Given the description of an element on the screen output the (x, y) to click on. 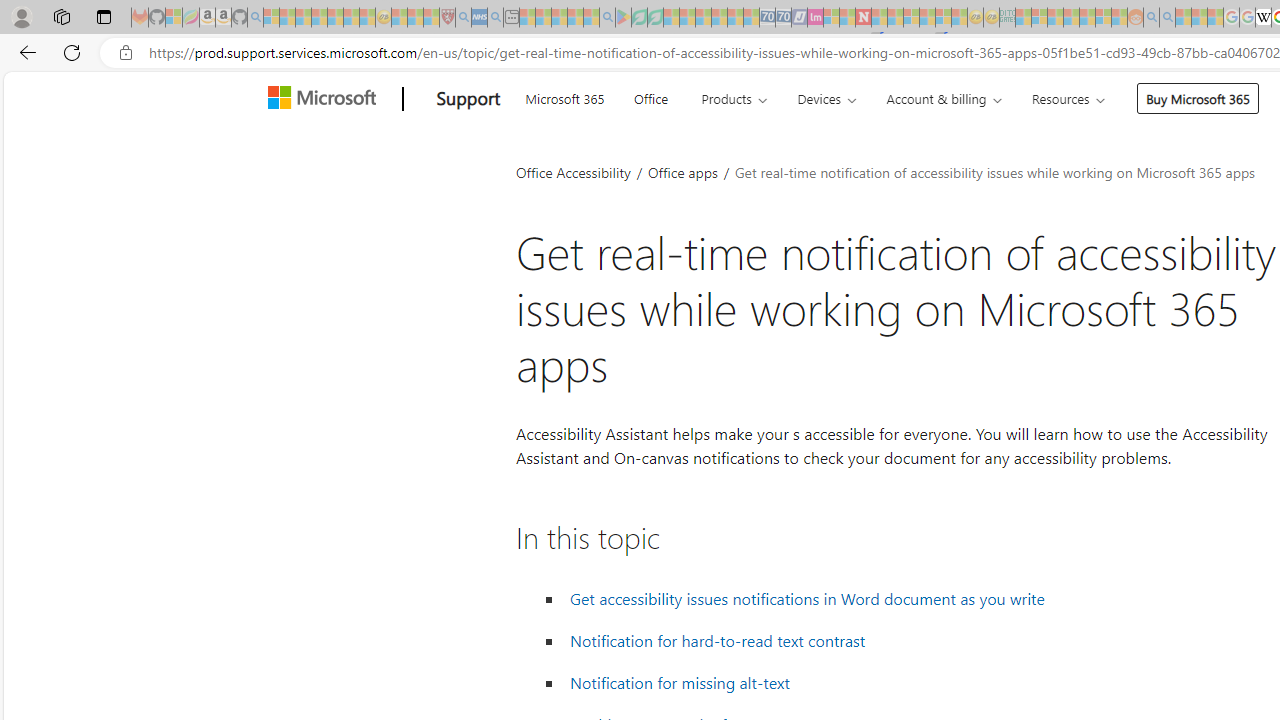
Office Accessibility (573, 172)
Buy Microsoft 365 (1197, 97)
